Given the description of an element on the screen output the (x, y) to click on. 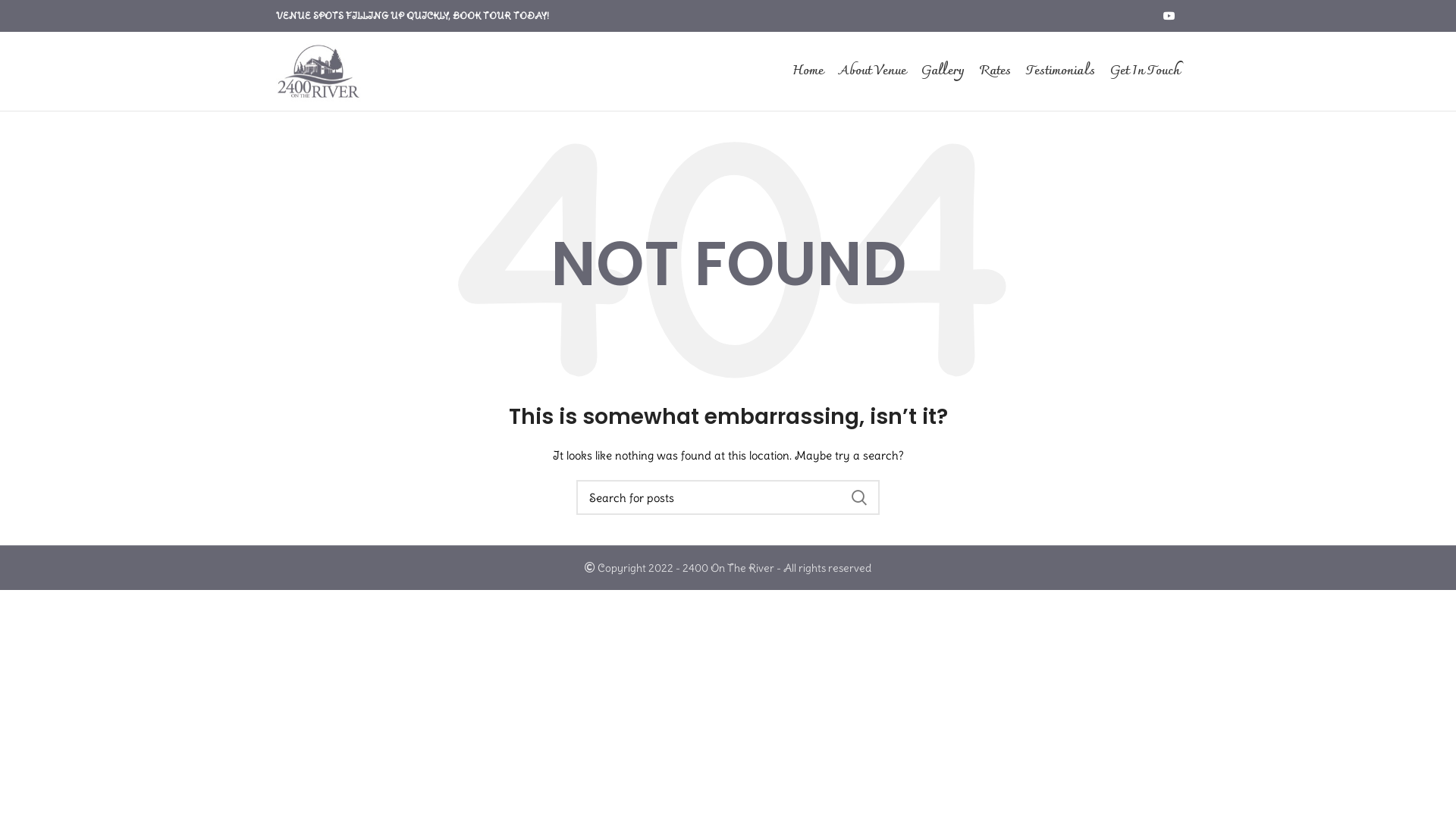
Gallery Element type: text (942, 71)
Testimonials Element type: text (1060, 71)
Get In Touch Element type: text (1144, 71)
About Venue Element type: text (872, 71)
SEARCH Element type: text (859, 497)
Rates Element type: text (995, 71)
Home Element type: text (807, 71)
Search for posts Element type: hover (727, 497)
